Given the description of an element on the screen output the (x, y) to click on. 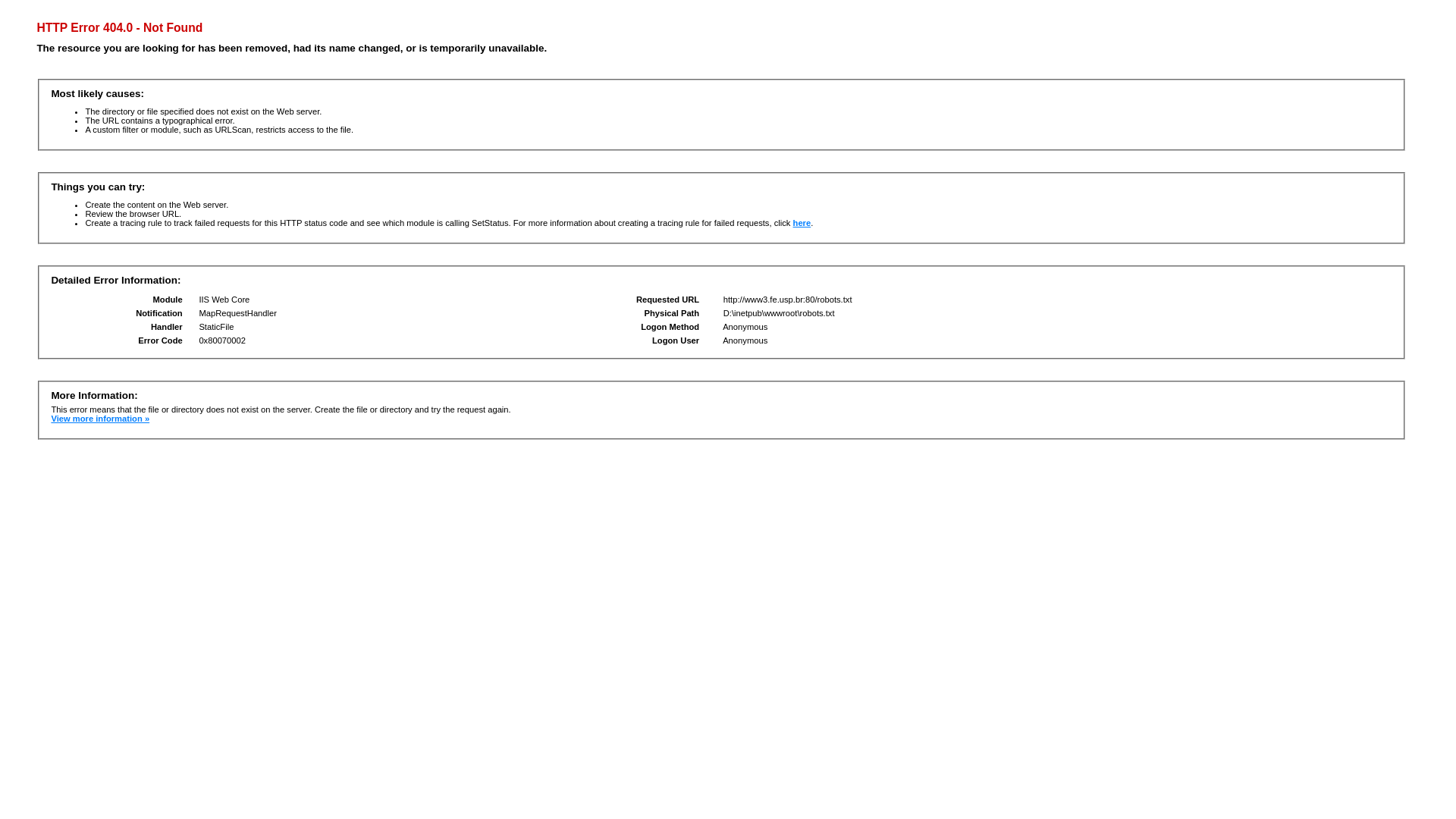
here Element type: text (802, 222)
